Given the description of an element on the screen output the (x, y) to click on. 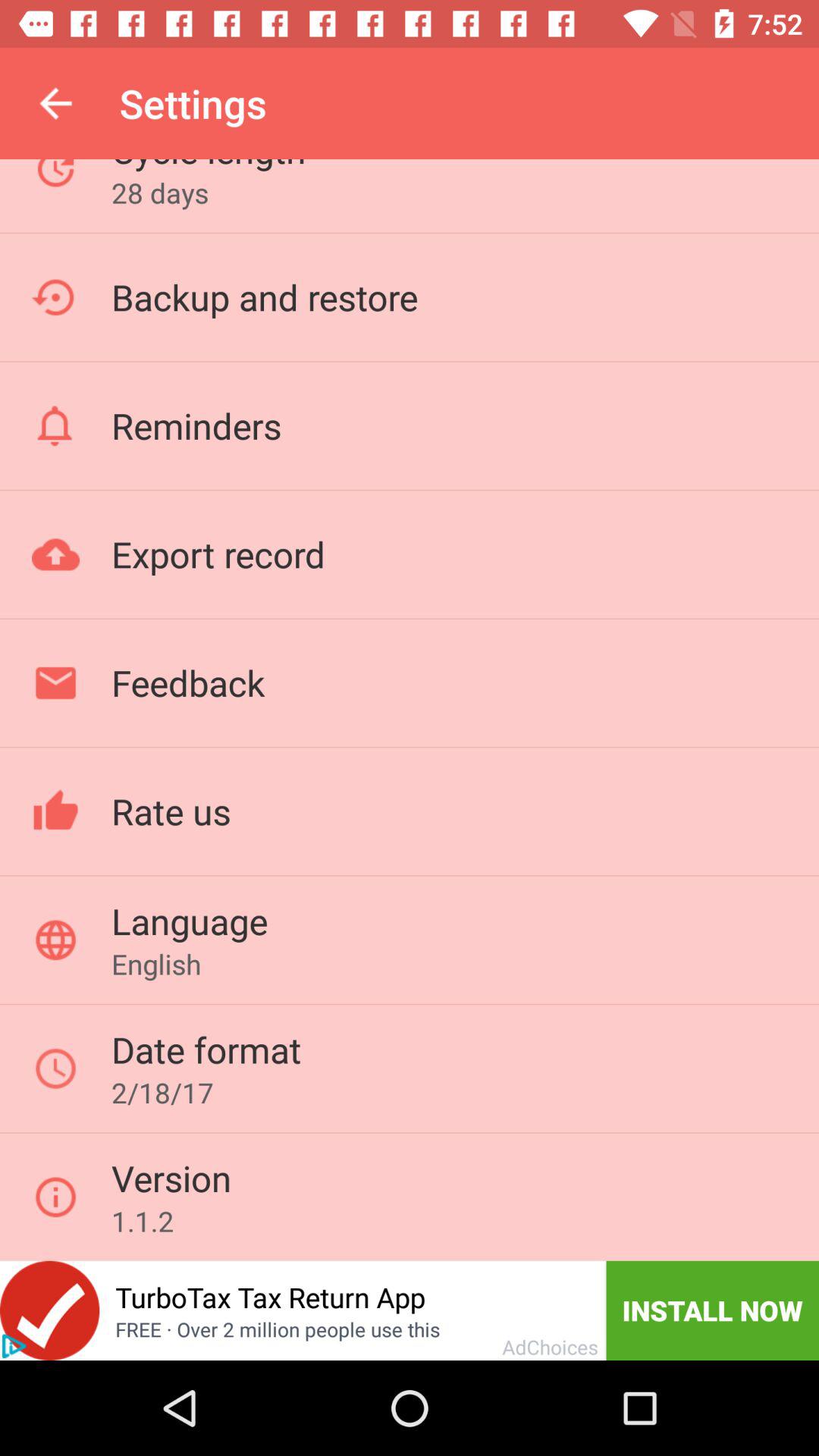
launch the item next to cycle length (55, 103)
